Given the description of an element on the screen output the (x, y) to click on. 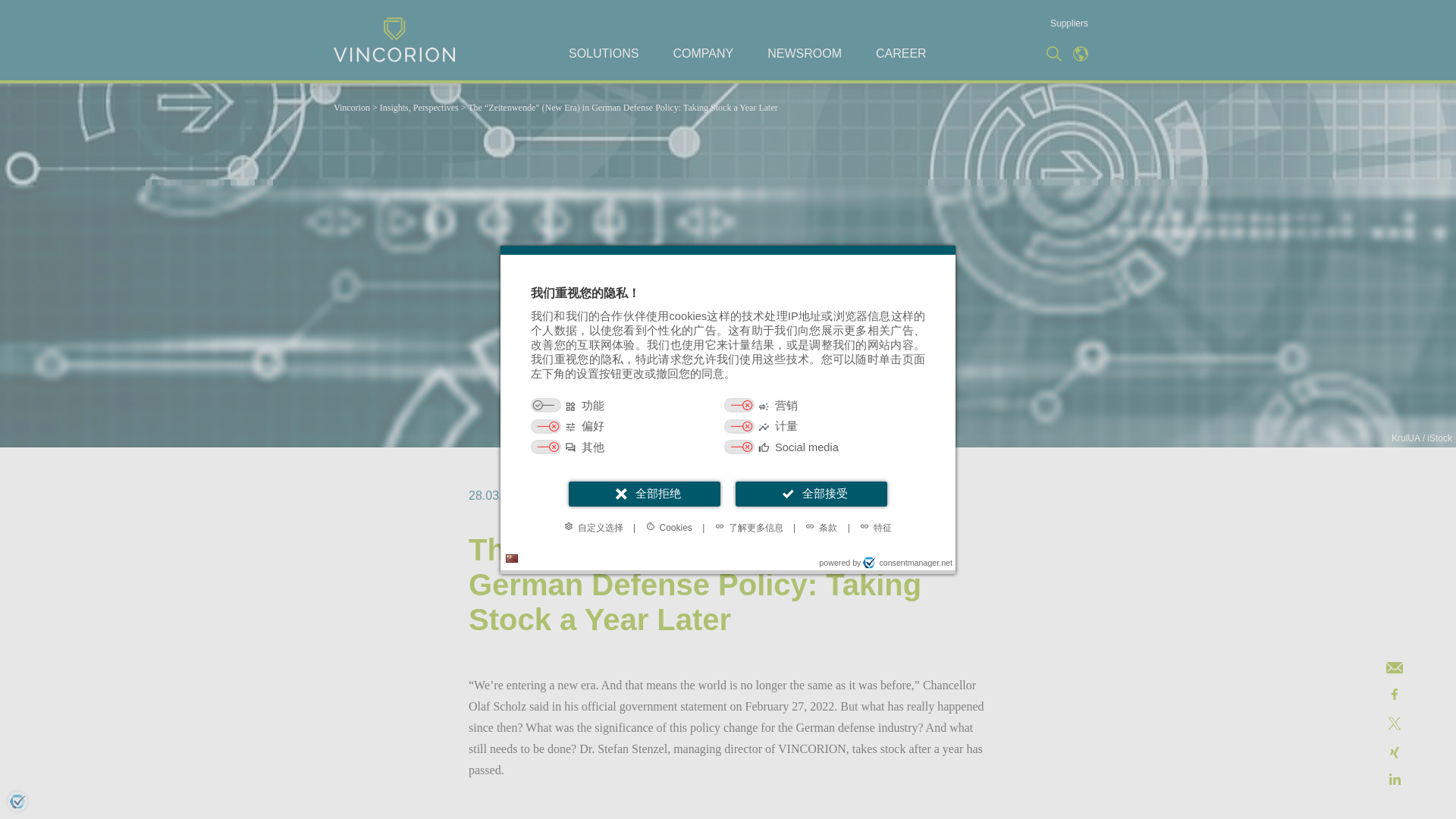
Suppliers (1068, 23)
Cookies (669, 526)
COMPANY (702, 53)
Solutions (604, 53)
Suppliers (1068, 23)
consentmanager.net (907, 562)
Language: zh (511, 558)
Language: zh (511, 558)
SOLUTIONS (604, 53)
